Given the description of an element on the screen output the (x, y) to click on. 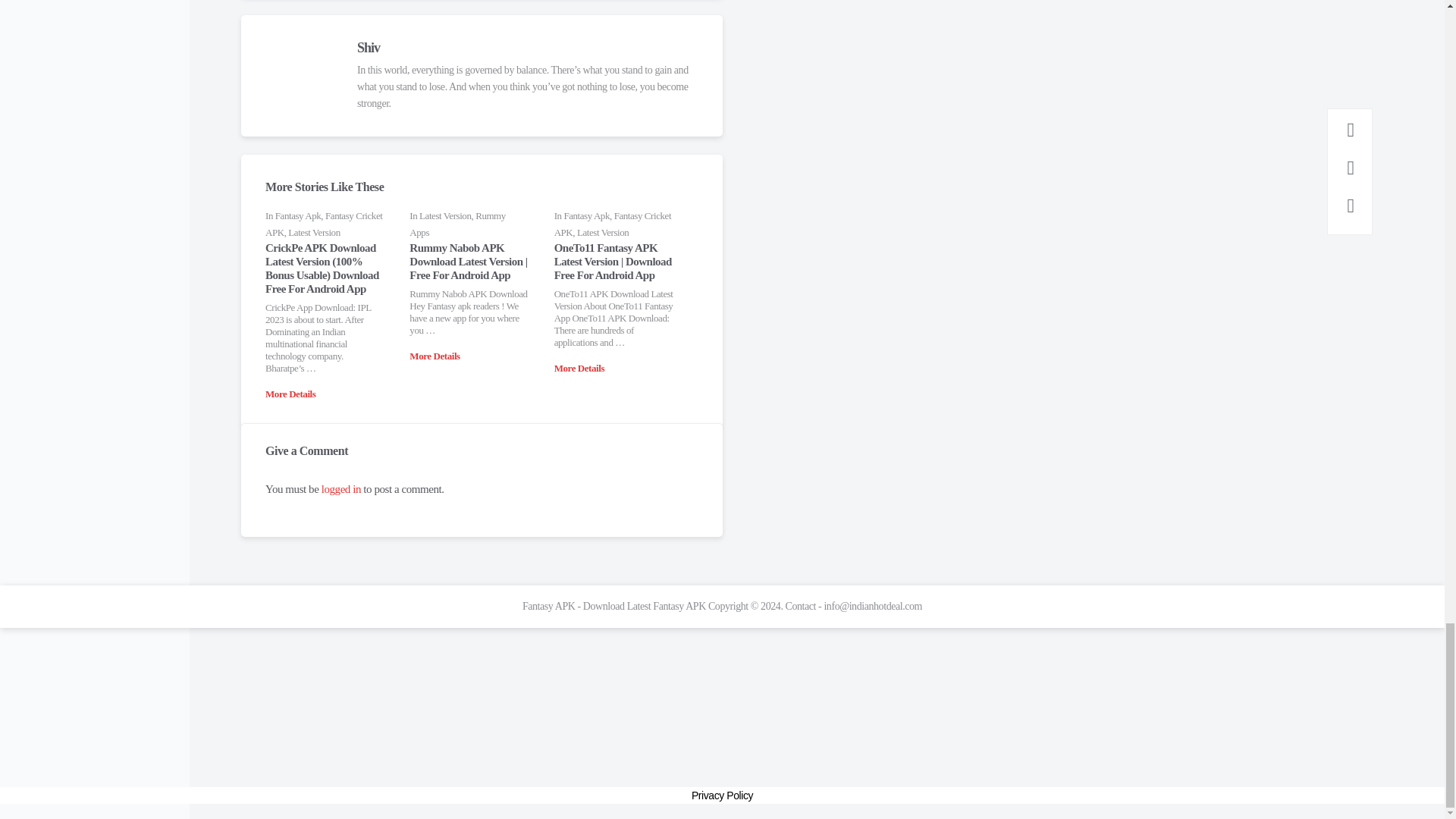
View all posts in Latest Version (313, 232)
View all posts in Fantasy Apk (298, 215)
View all posts in Fantasy Cricket APK (322, 223)
